Given the description of an element on the screen output the (x, y) to click on. 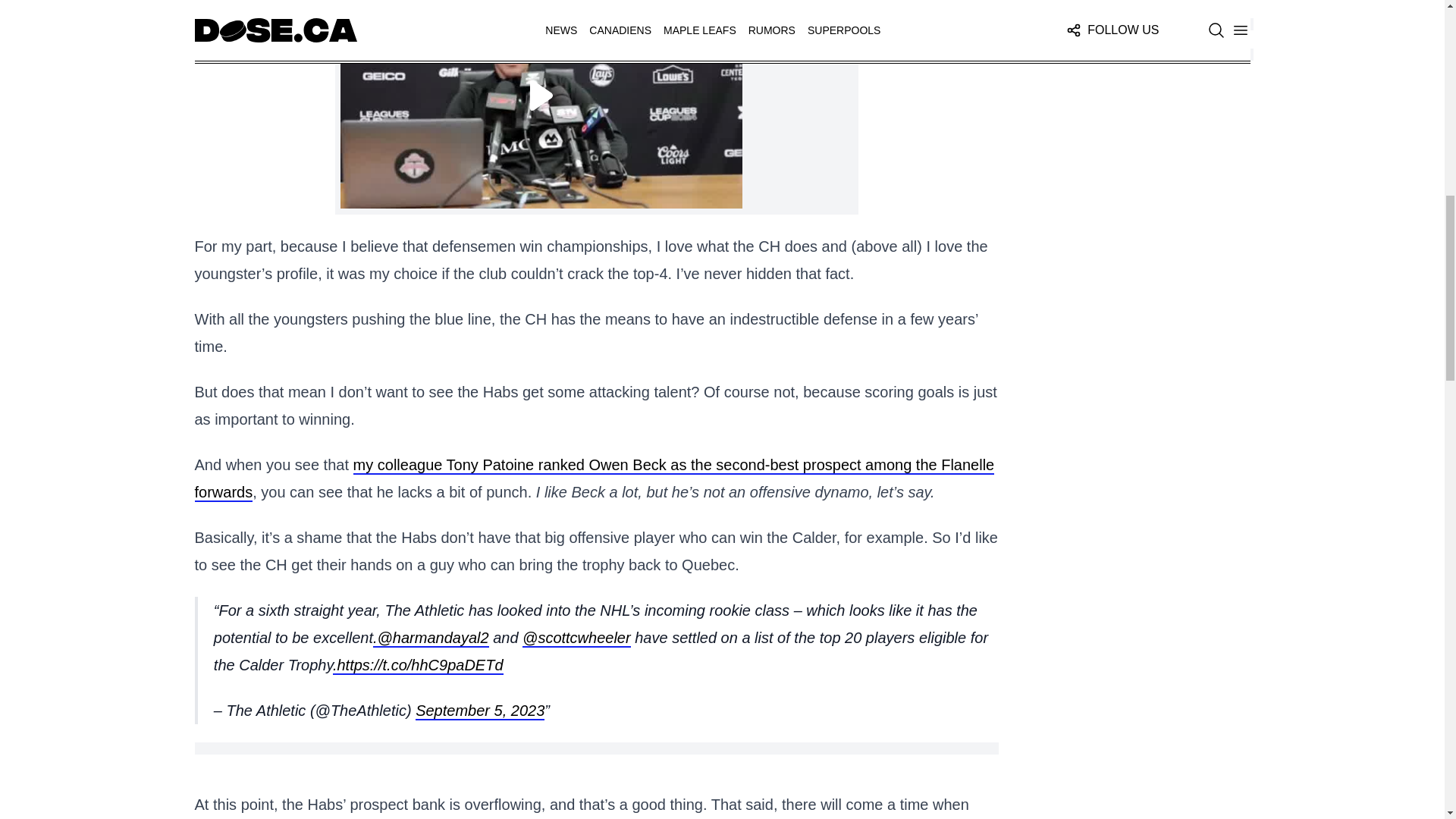
September 5, 2023 (479, 710)
